Given the description of an element on the screen output the (x, y) to click on. 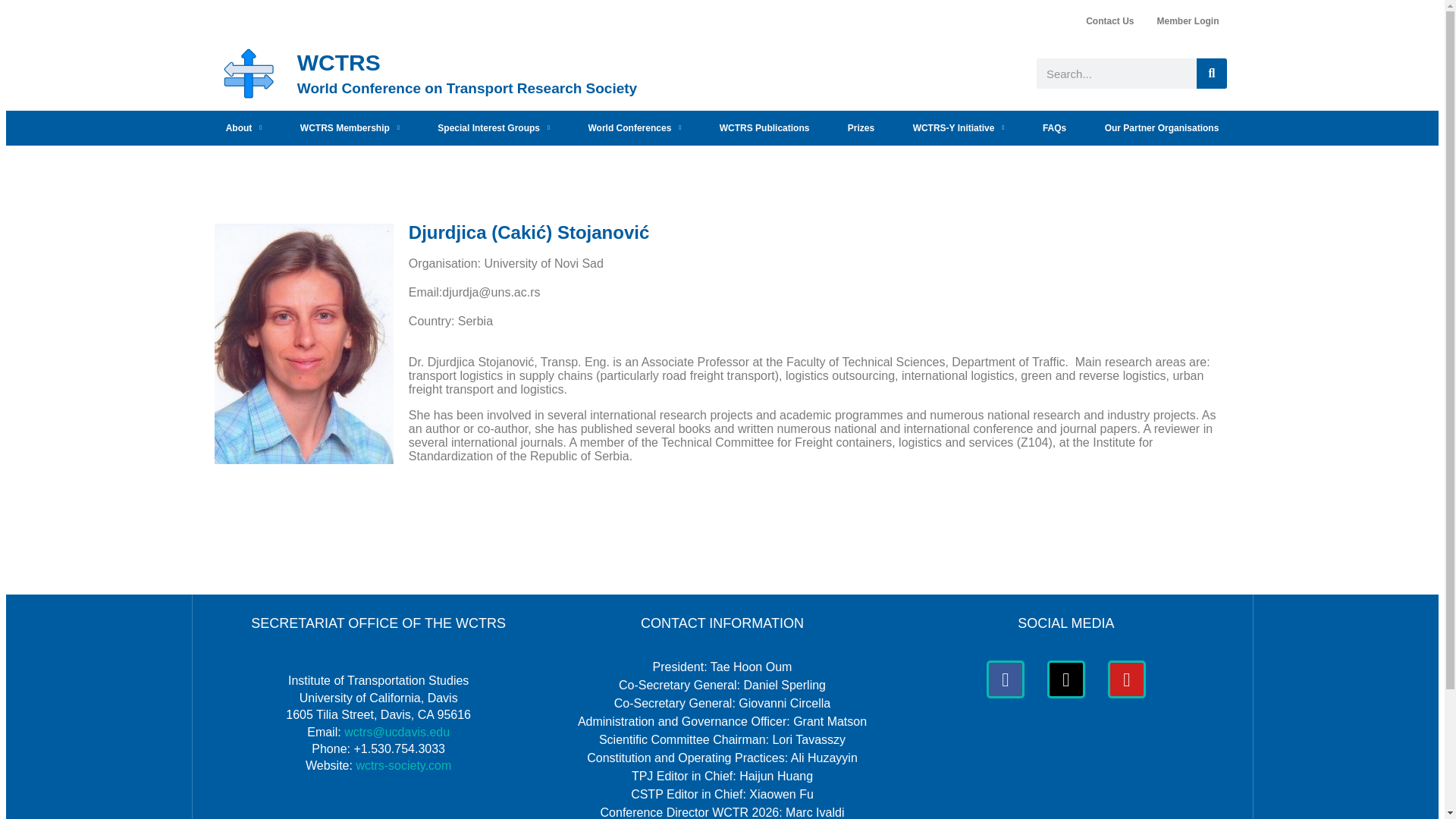
WCTRS Publications (764, 127)
About (243, 127)
FAQs (1054, 127)
Prizes (860, 127)
World Conferences (634, 127)
WCTRS-Y Initiative (958, 127)
Special Interest Groups (494, 127)
Member Login (1187, 20)
Our Partner Organisations (1160, 127)
Contact Us (1109, 20)
WCTRS Membership (350, 127)
